Given the description of an element on the screen output the (x, y) to click on. 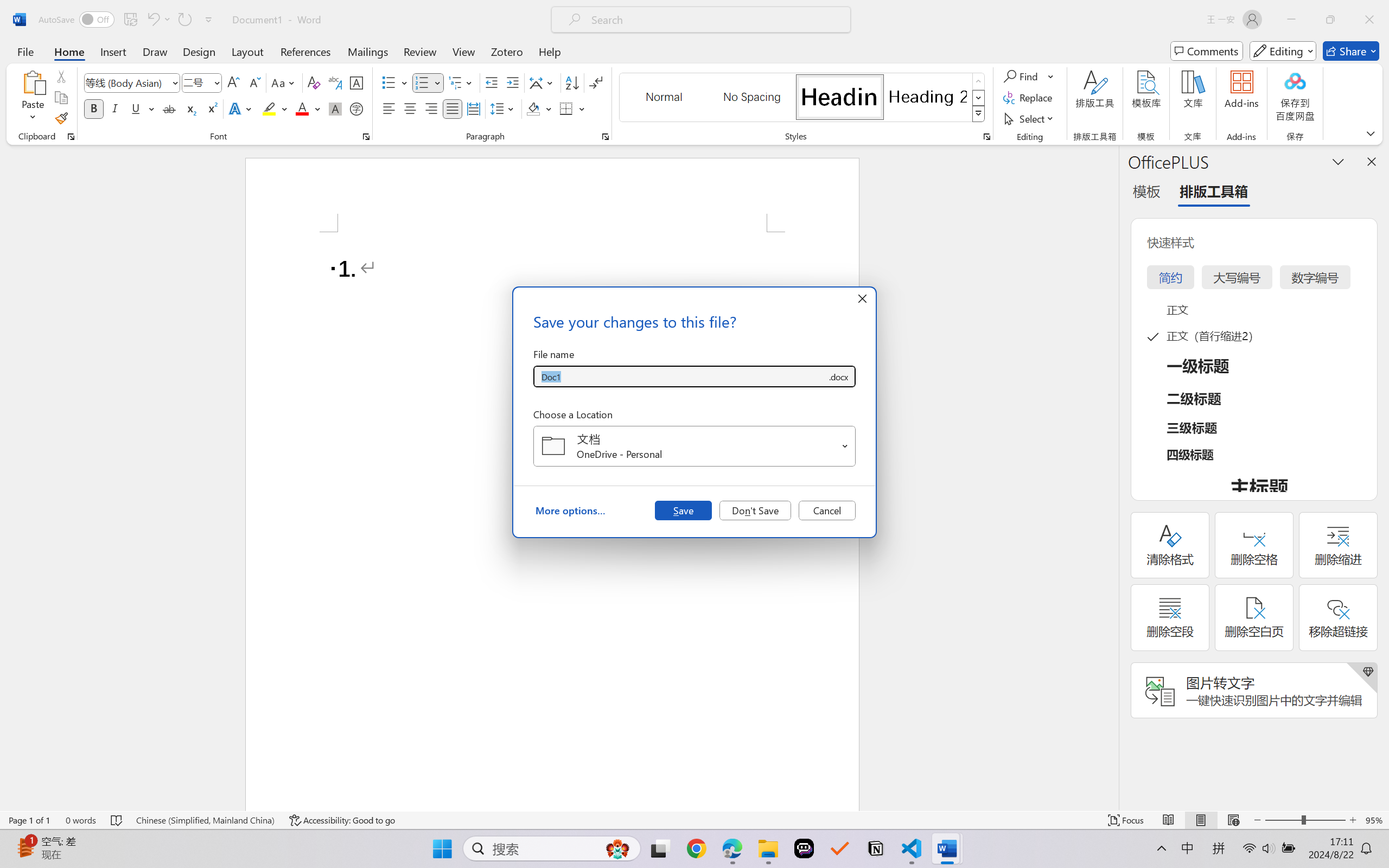
Repeat Number Default (184, 19)
